Given the description of an element on the screen output the (x, y) to click on. 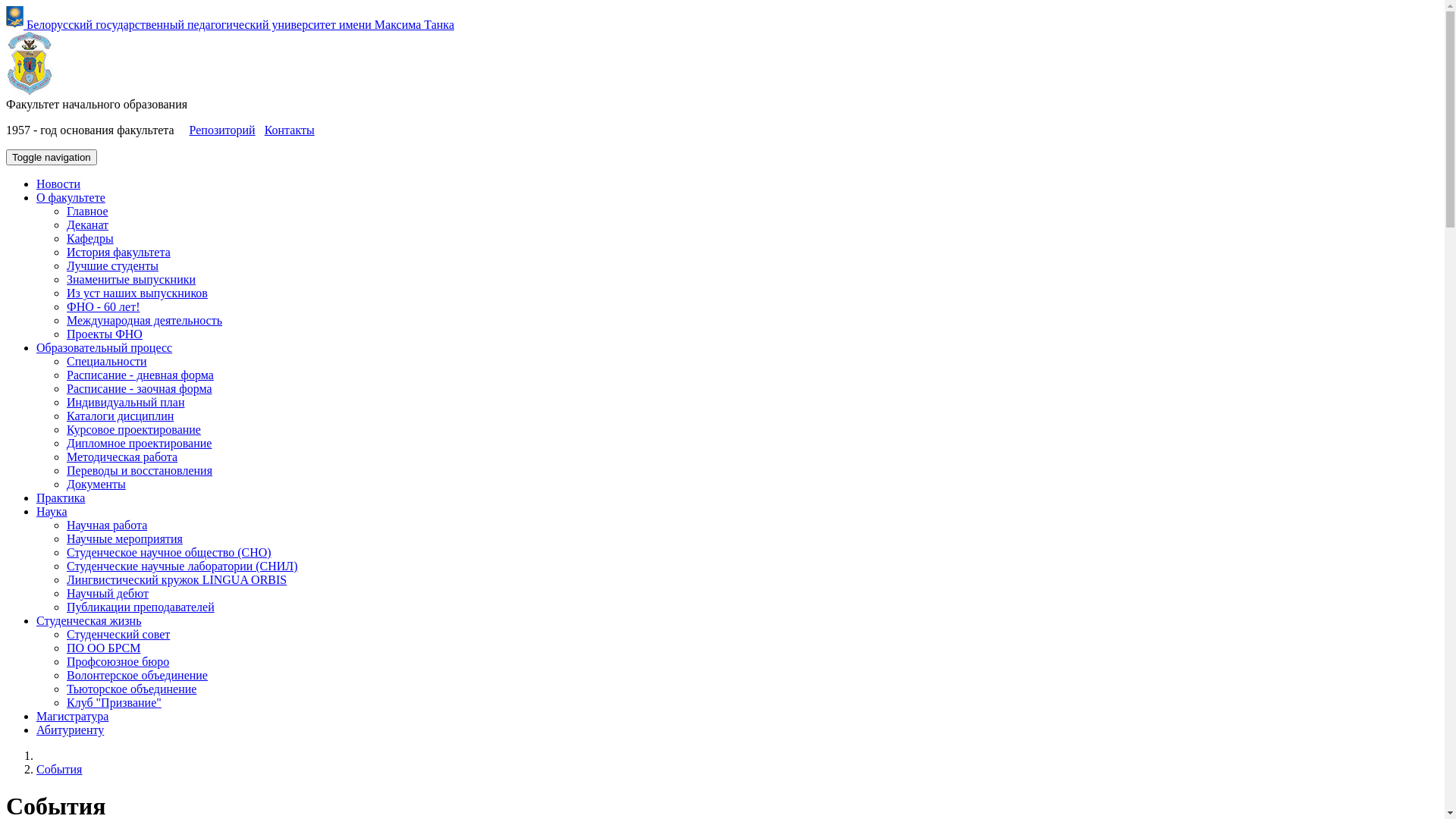
Toggle navigation Element type: text (51, 157)
